Given the description of an element on the screen output the (x, y) to click on. 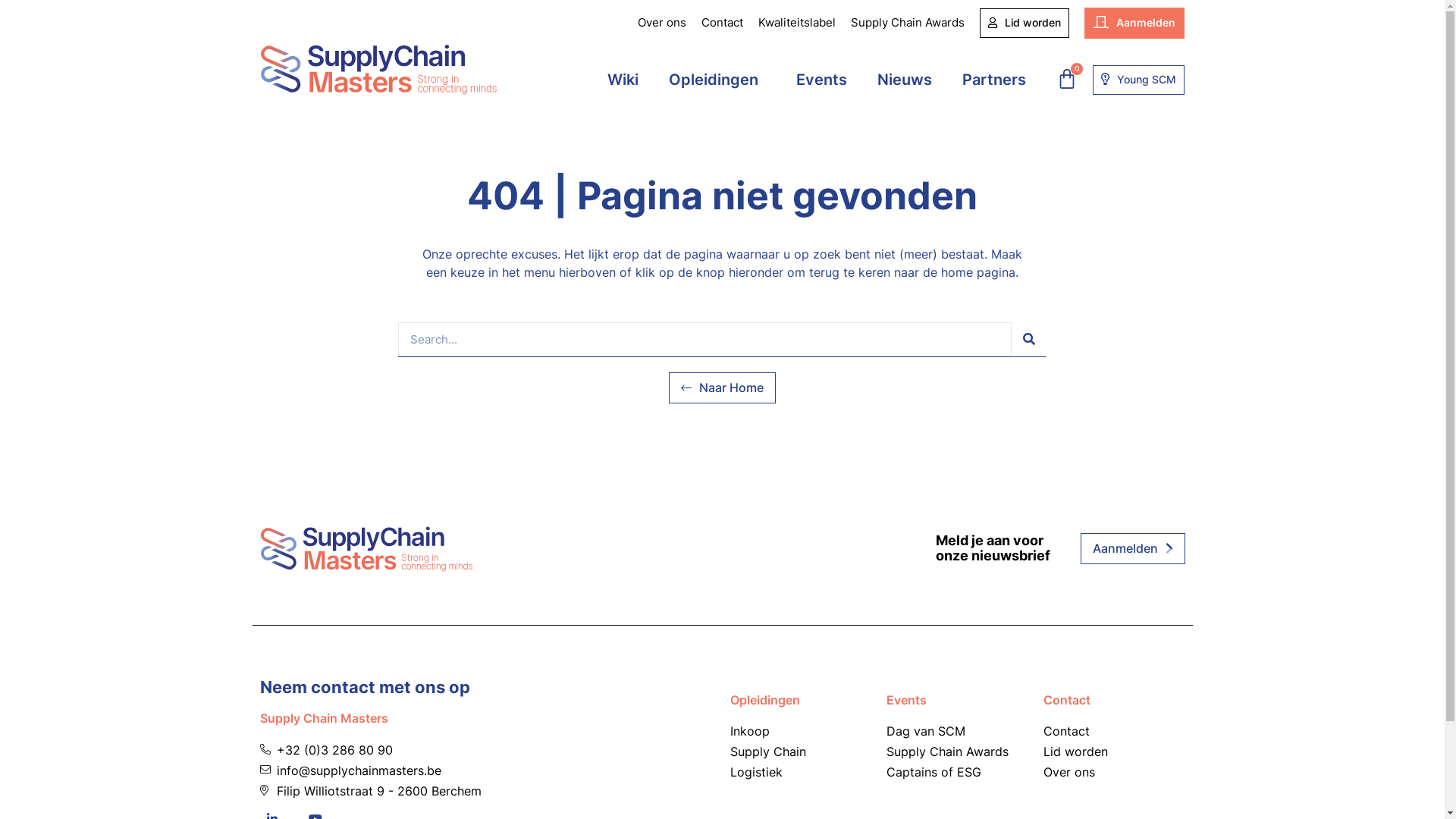
Supply Chain Element type: text (800, 751)
Lid worden Element type: text (1024, 22)
Kwaliteitslabel Element type: text (796, 22)
Dag van SCM Element type: text (957, 730)
Contact Element type: text (1114, 730)
0 Element type: text (1066, 78)
Opleidingen Element type: text (764, 699)
Events Element type: text (821, 79)
Young SCM Element type: text (1138, 79)
Aanmelden Element type: text (1131, 548)
Contact Element type: text (722, 22)
Lid worden Element type: text (1114, 751)
Over ons Element type: text (661, 22)
Supply Chain Awards Element type: text (907, 22)
Over ons Element type: text (1114, 771)
Captains of ESG Element type: text (957, 771)
Partners Element type: text (994, 79)
Nieuws Element type: text (904, 79)
Supply Chain Awards Element type: text (957, 751)
Contact Element type: text (1066, 699)
Inkoop Element type: text (800, 730)
Naar Home Element type: text (721, 387)
Aanmelden Element type: text (1134, 22)
Logistiek Element type: text (800, 771)
Wiki Element type: text (622, 79)
Opleidingen Element type: text (716, 79)
